Given the description of an element on the screen output the (x, y) to click on. 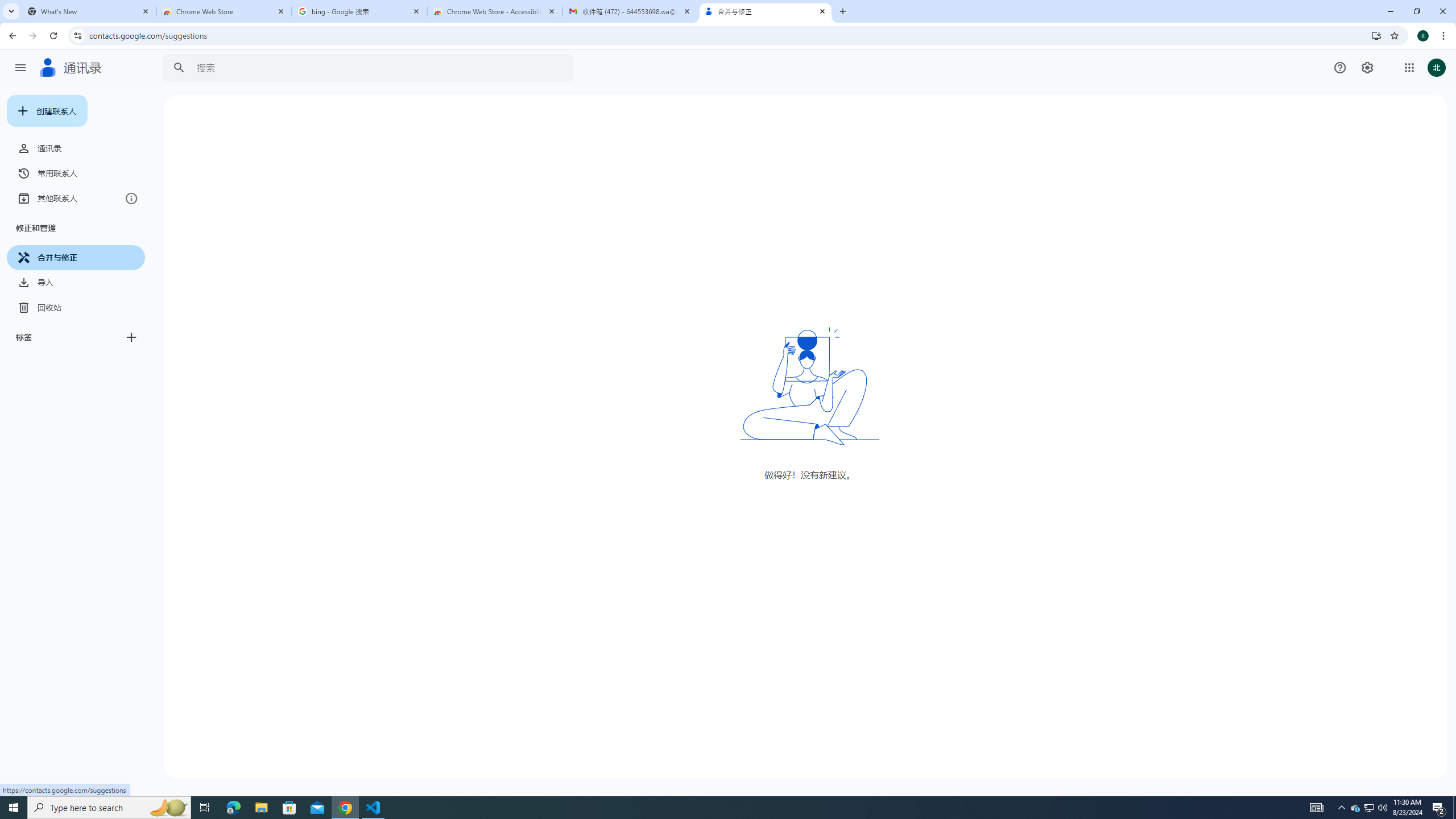
Chrome Web Store - Accessibility (494, 11)
